Given the description of an element on the screen output the (x, y) to click on. 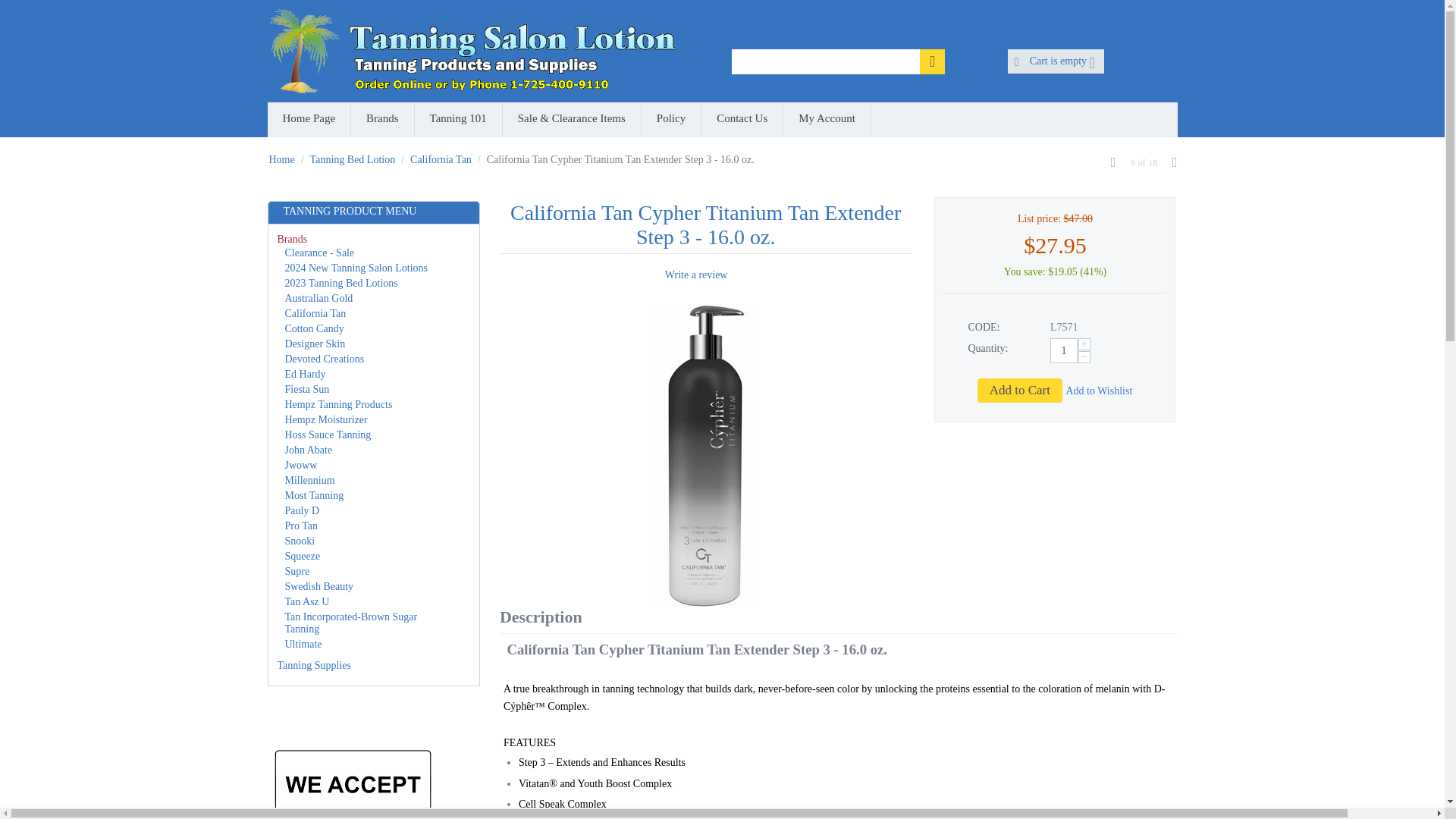
California Tan (315, 313)
2023 Tanning Bed Lotions (341, 283)
Australian Gold (319, 297)
Fiesta Sun (307, 389)
Search (932, 61)
Ed Hardy (305, 374)
Tanning Bed Lotion (352, 159)
Contact Us (742, 119)
1 (1063, 350)
Designer Skin (315, 343)
